Given the description of an element on the screen output the (x, y) to click on. 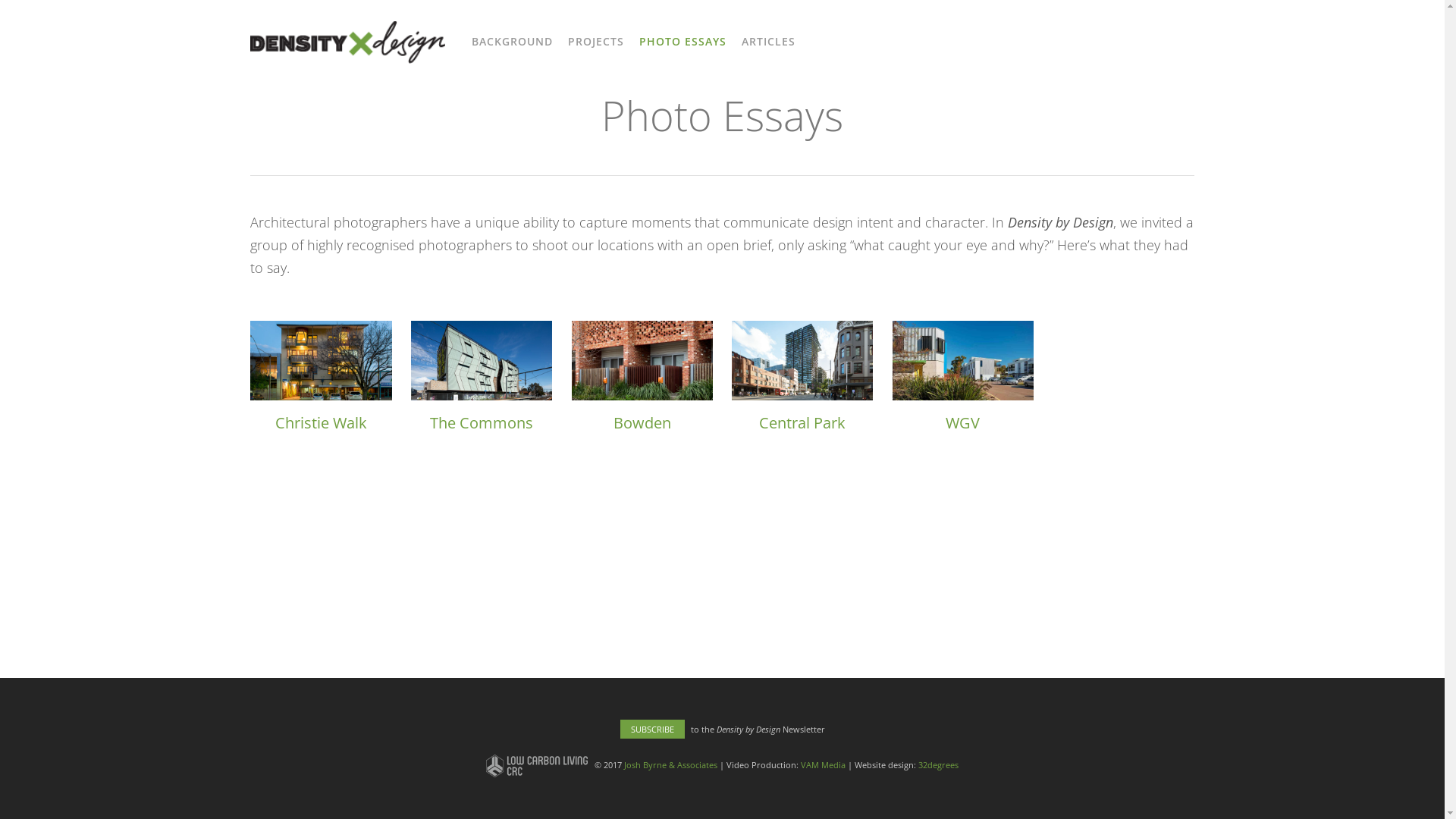
Central Park Element type: text (802, 422)
PROJECTS Element type: text (595, 45)
VAM Media Element type: text (822, 764)
Christie Walk Element type: text (321, 422)
32degrees Element type: text (938, 764)
Josh Byrne & Associates Element type: text (670, 764)
BACKGROUND Element type: text (512, 45)
The Commons Element type: text (481, 422)
PHOTO ESSAYS Element type: text (682, 45)
SUBSCRIBE Element type: text (652, 728)
Bowden Element type: text (642, 422)
WGV Element type: text (962, 422)
ARTICLES Element type: text (768, 45)
